Given the description of an element on the screen output the (x, y) to click on. 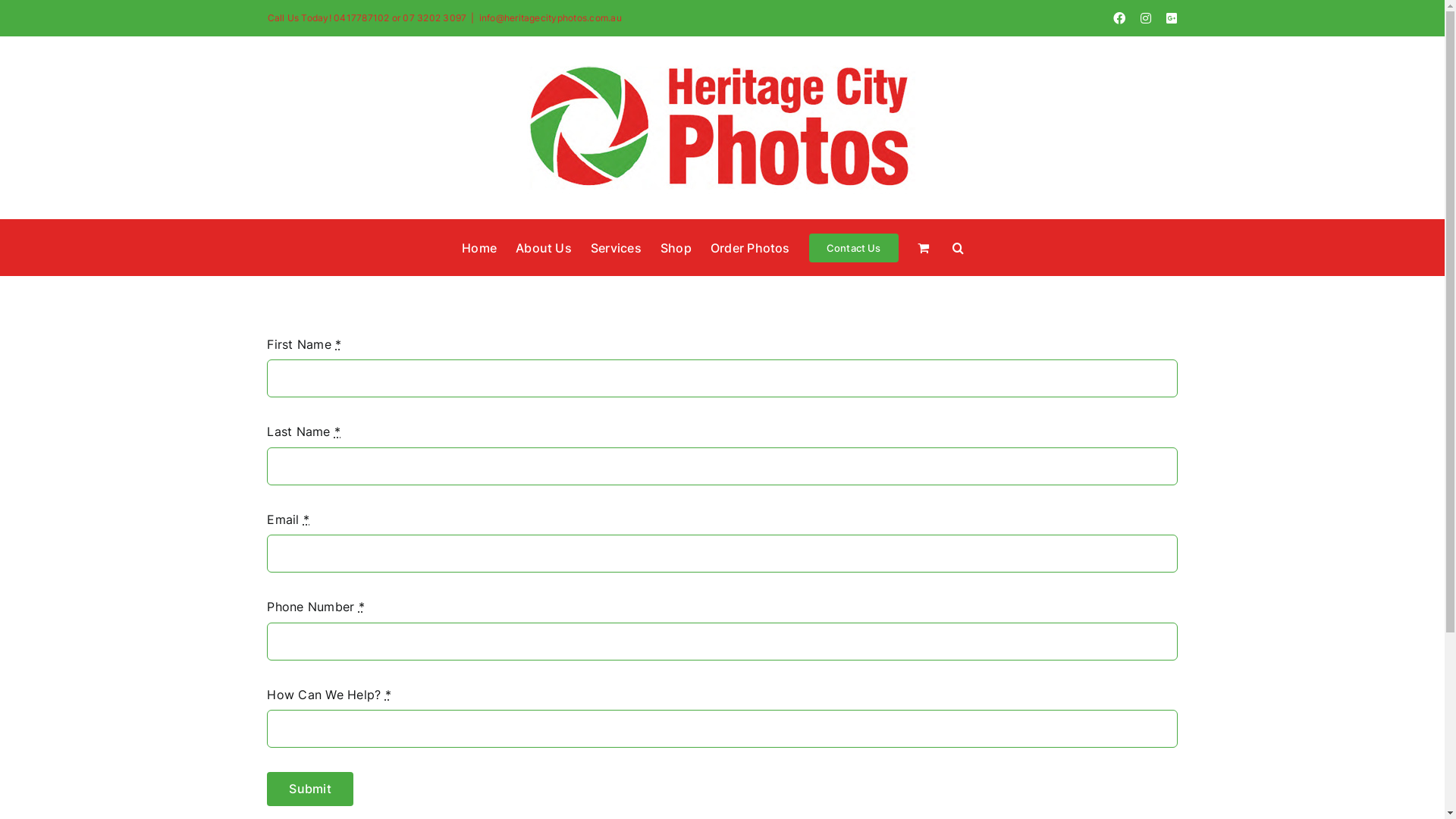
About Us Element type: text (543, 247)
Services Element type: text (615, 247)
Home Element type: text (478, 247)
Custom Element type: text (1171, 18)
Shop Element type: text (675, 247)
Contact Us Element type: text (853, 247)
Instagram Element type: text (1145, 18)
Search Element type: hover (957, 247)
Order Photos Element type: text (750, 247)
Submit Element type: text (309, 788)
Facebook Element type: text (1119, 18)
info@heritagecityphotos.com.au Element type: text (550, 17)
